Given the description of an element on the screen output the (x, y) to click on. 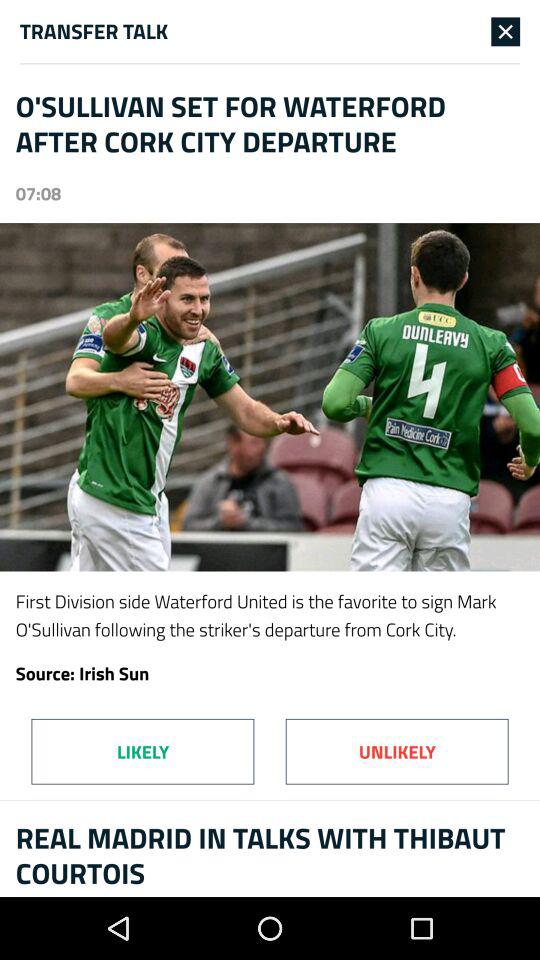
scroll to unlikely (396, 751)
